Given the description of an element on the screen output the (x, y) to click on. 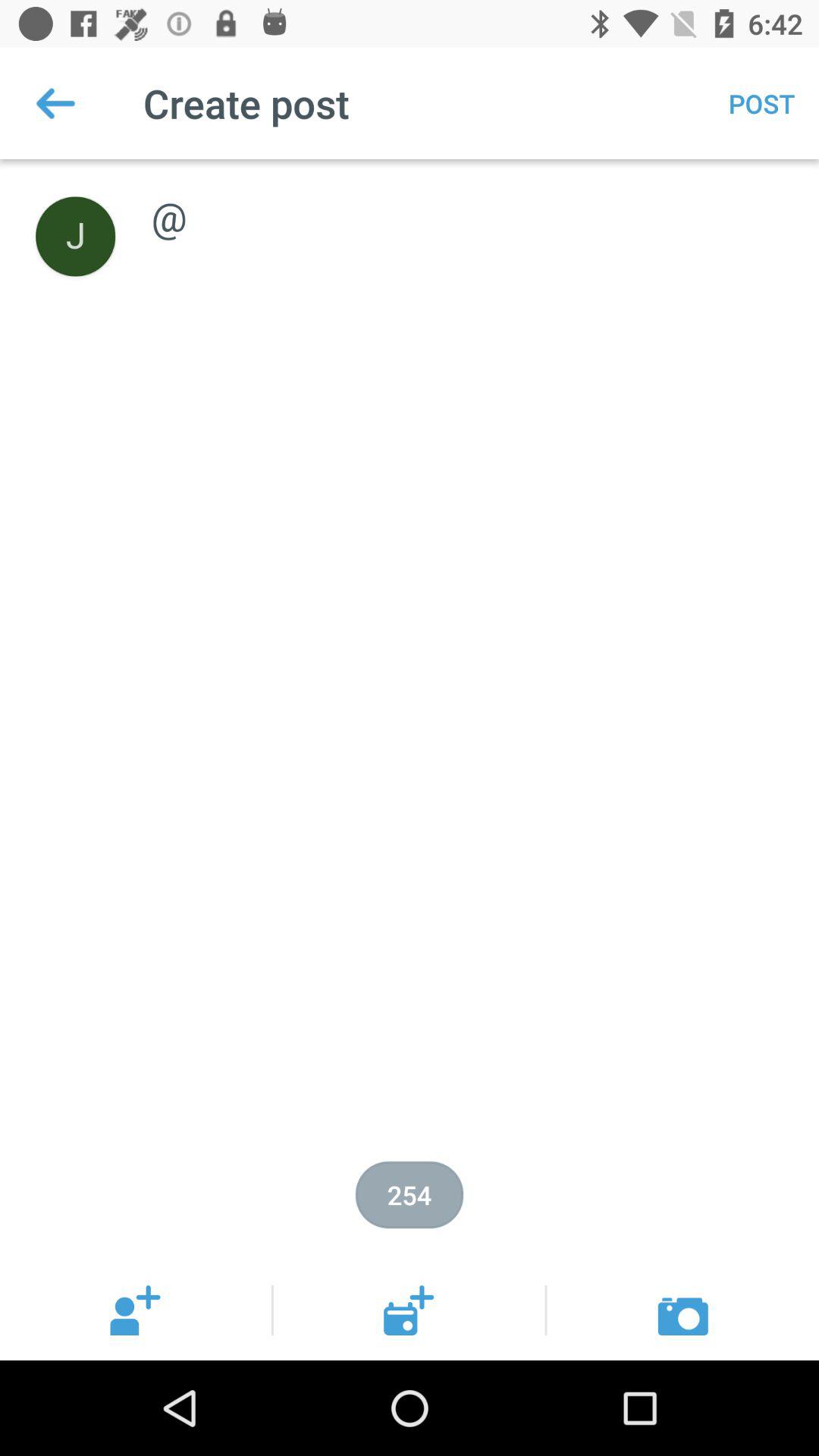
jump to the 254 icon (409, 1194)
